Given the description of an element on the screen output the (x, y) to click on. 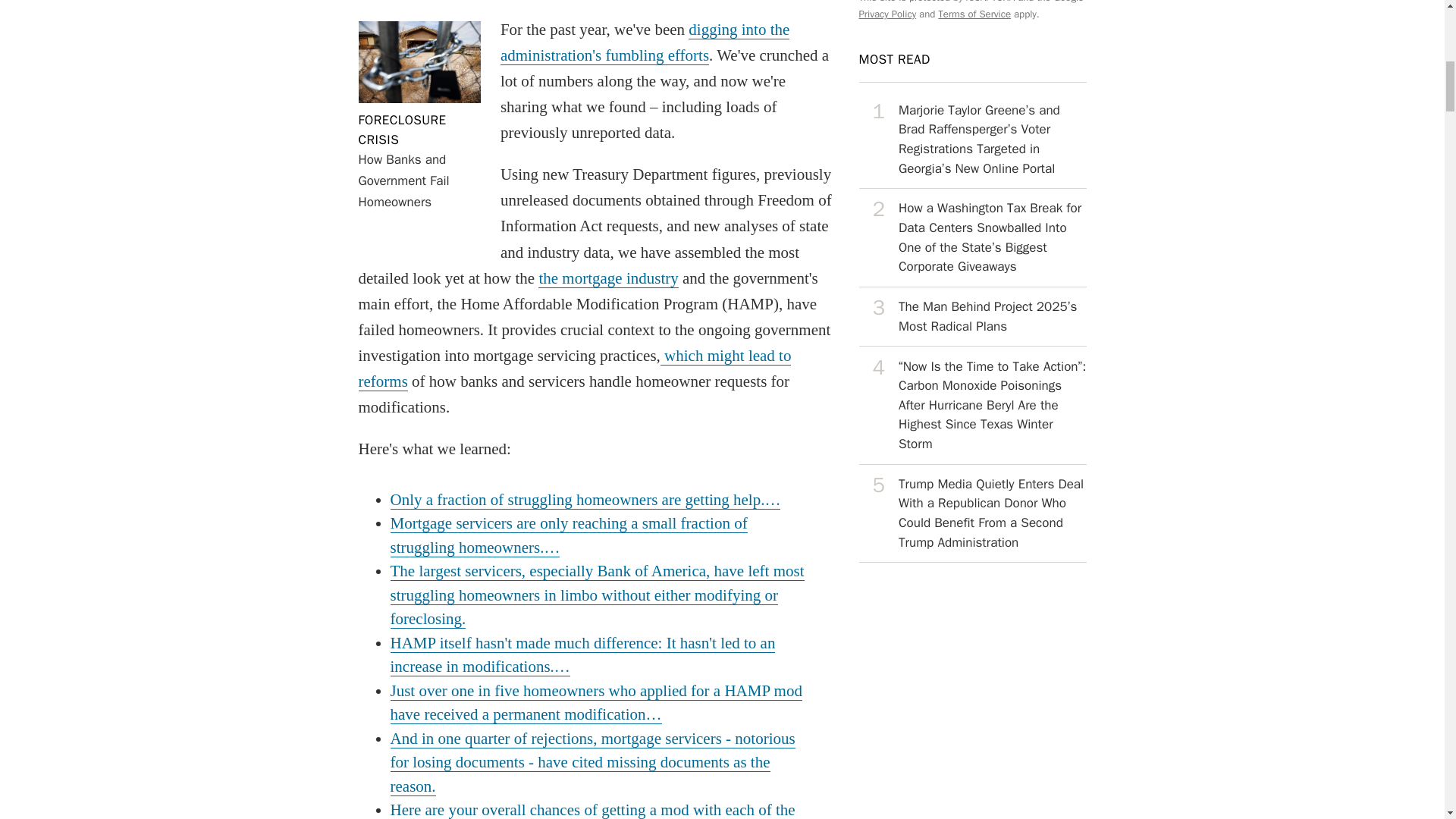
View this (972, 238)
which might lead to reforms (574, 368)
View this (972, 139)
View this (401, 130)
digging into the administration's fumbling efforts (972, 405)
View this (644, 42)
View this (972, 316)
the mortgage industry (972, 514)
